Given the description of an element on the screen output the (x, y) to click on. 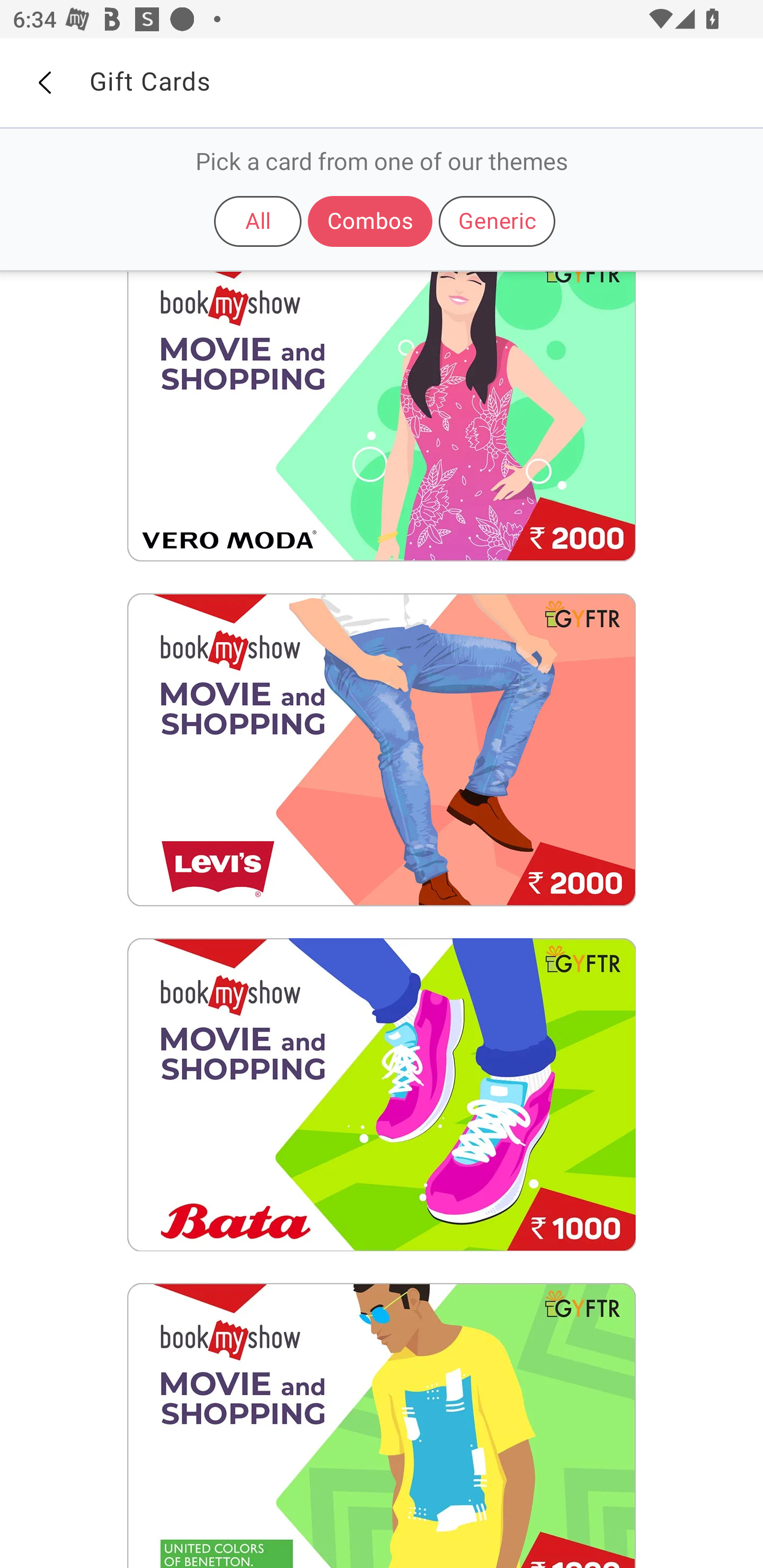
Back (44, 82)
  All   (257, 221)
Combos (369, 221)
Generic (496, 221)
